Given the description of an element on the screen output the (x, y) to click on. 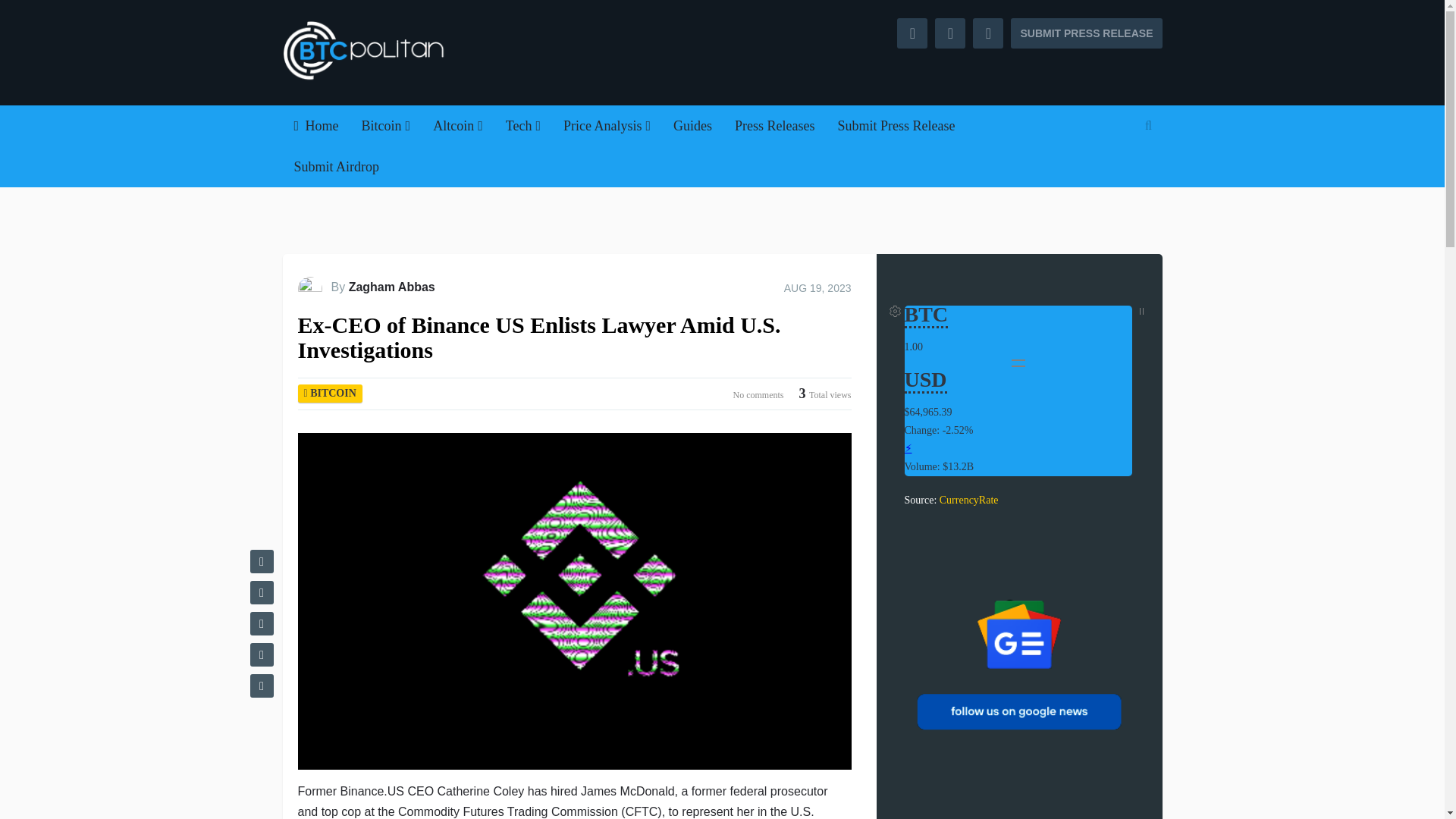
Guides (692, 125)
Tech (523, 125)
Home (315, 125)
Posts by Zagham Abbas (392, 286)
Price Analysis (606, 125)
Submit Press Release (896, 125)
Views (825, 393)
SUBMIT PRESS RELEASE (1085, 33)
Bitcoin (386, 125)
Press Releases (774, 125)
Altcoin (458, 125)
View all posts in Bitcoin (333, 392)
Submit Airdrop (336, 166)
